Given the description of an element on the screen output the (x, y) to click on. 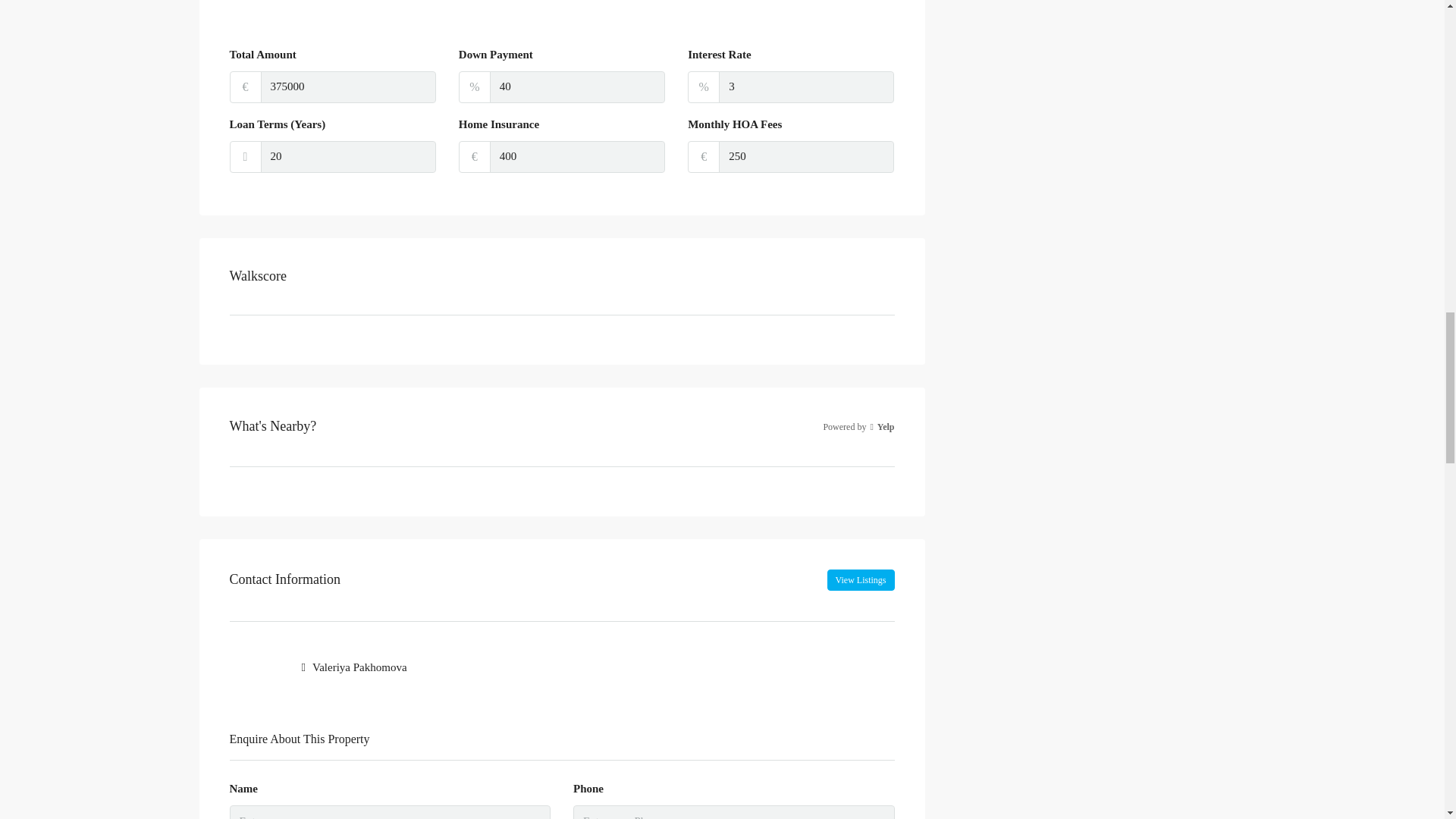
250 (806, 156)
3 (806, 87)
375000 (347, 87)
40 (577, 87)
20 (347, 156)
400 (577, 156)
